Given the description of an element on the screen output the (x, y) to click on. 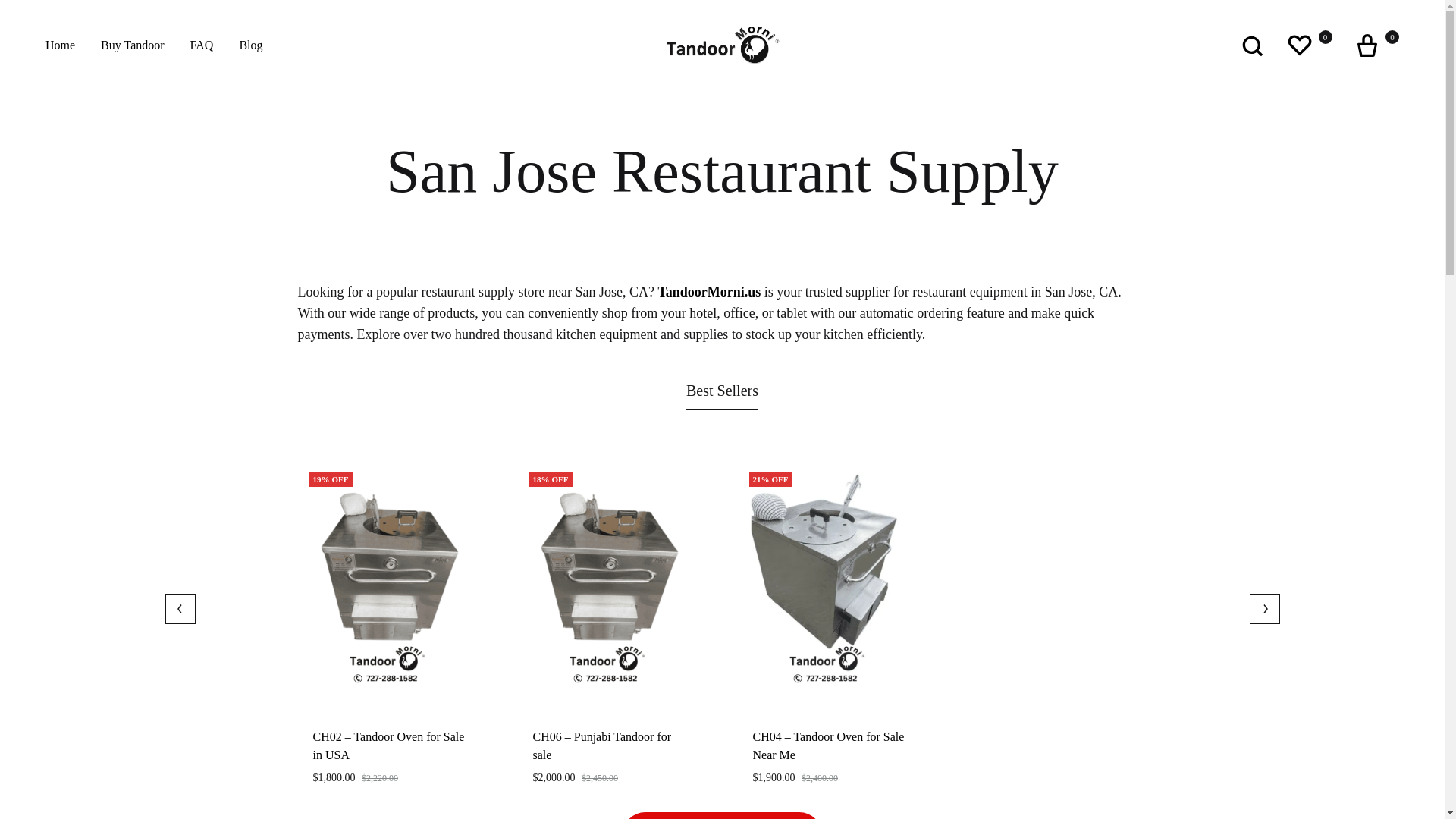
Blog (250, 45)
Buy Tandoor (131, 45)
Home (60, 45)
FAQ (202, 45)
0 (1308, 45)
0 (1375, 45)
